Given the description of an element on the screen output the (x, y) to click on. 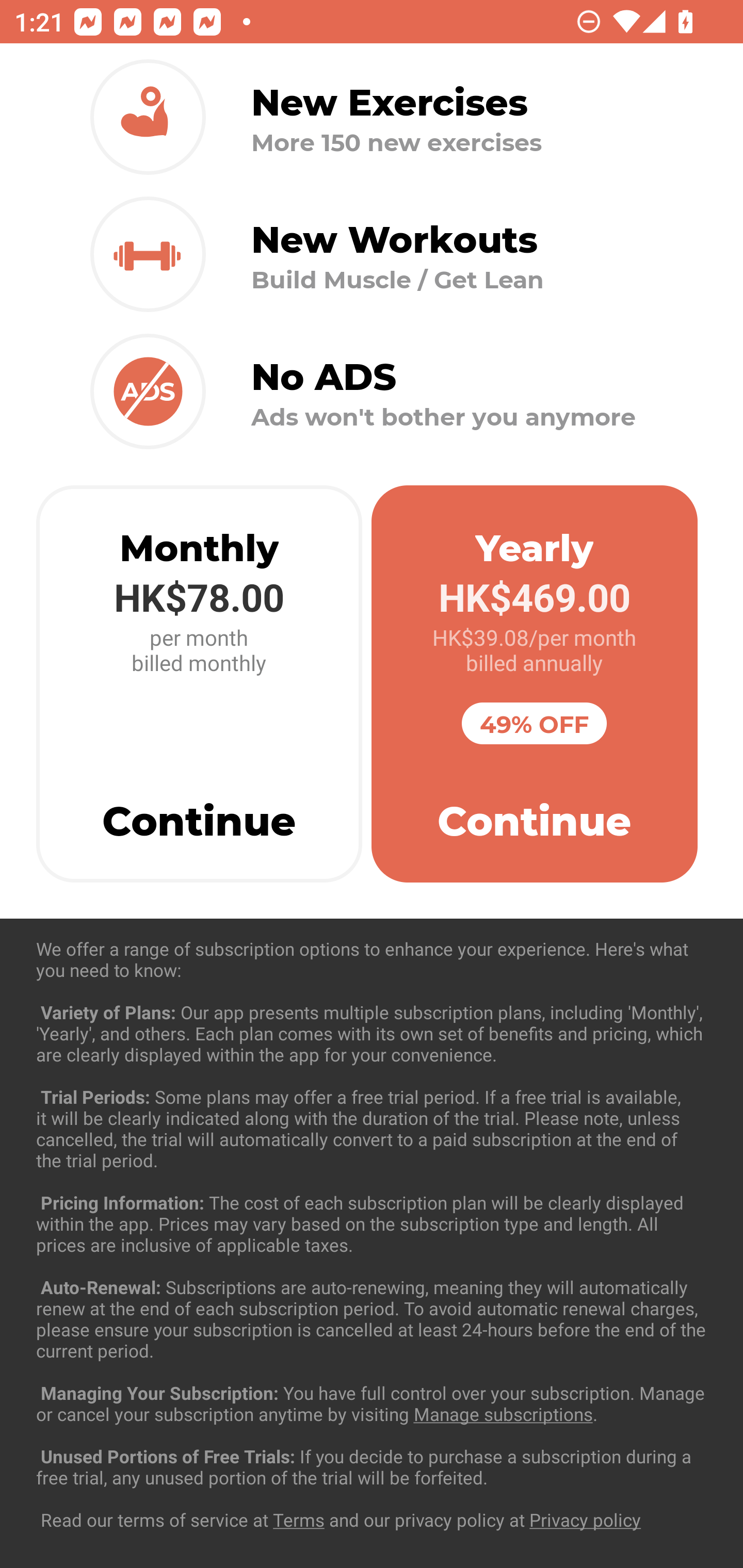
Monthly HK$78.00 per month
billed monthly Continue (199, 684)
Exercise Chest 37 exercises (371, 1033)
Exercise Forearms 4 exercises (371, 1232)
Exercise Legs 36 exercises (371, 1430)
